Given the description of an element on the screen output the (x, y) to click on. 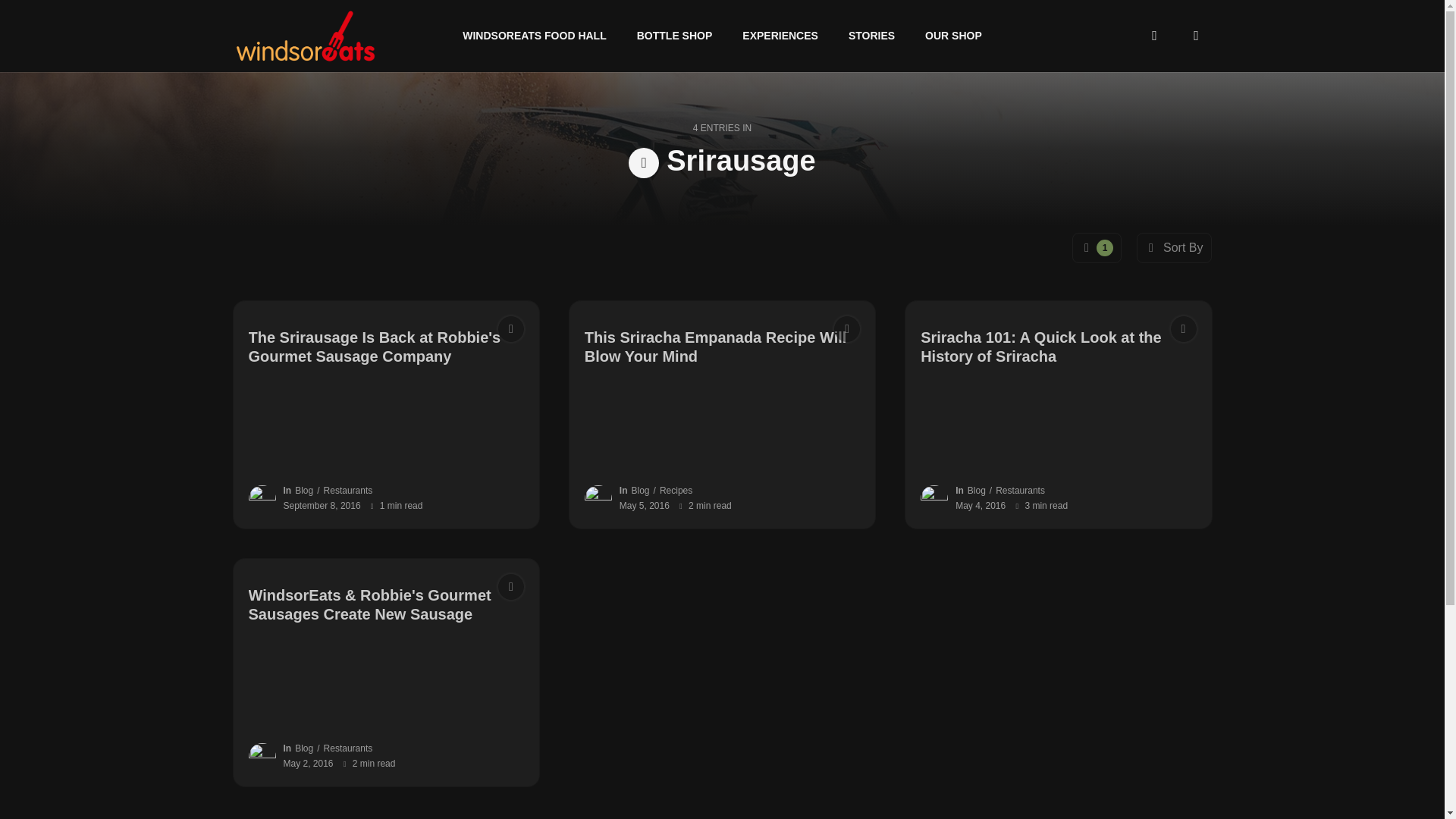
The Srirausage Is Back at Robbie's Gourmet Sausage Company (386, 347)
Restaurants (347, 748)
1 (1096, 247)
Sriracha 101: A Quick Look at the History of Sriracha (1057, 347)
This Sriracha Empanada Recipe Will Blow Your Mind (722, 347)
BOTTLE SHOP (675, 36)
Blog (304, 490)
Blog (639, 490)
EXPERIENCES (780, 36)
Restaurants (1020, 490)
